Given the description of an element on the screen output the (x, y) to click on. 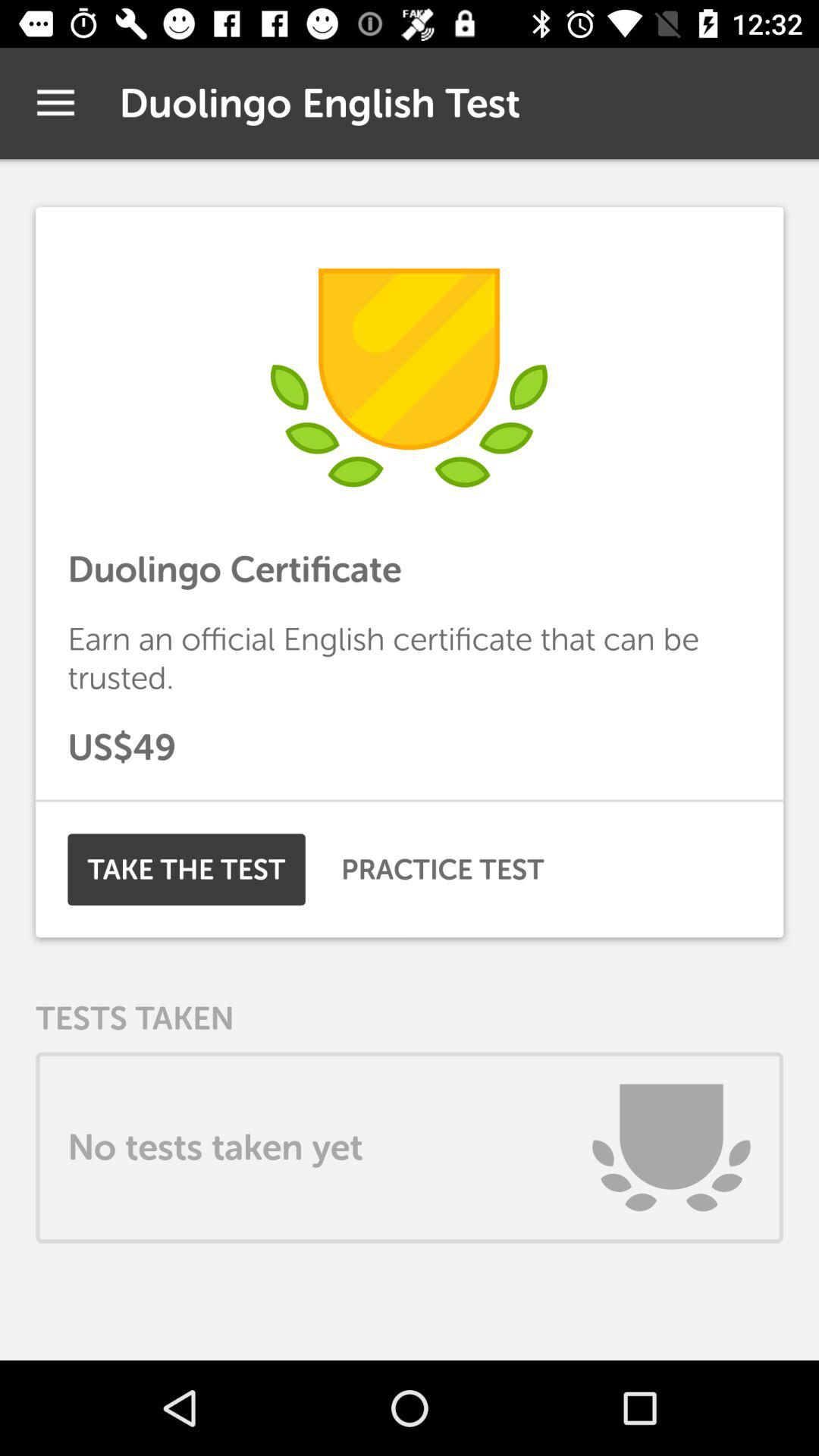
open the icon below earn an official item (409, 747)
